Given the description of an element on the screen output the (x, y) to click on. 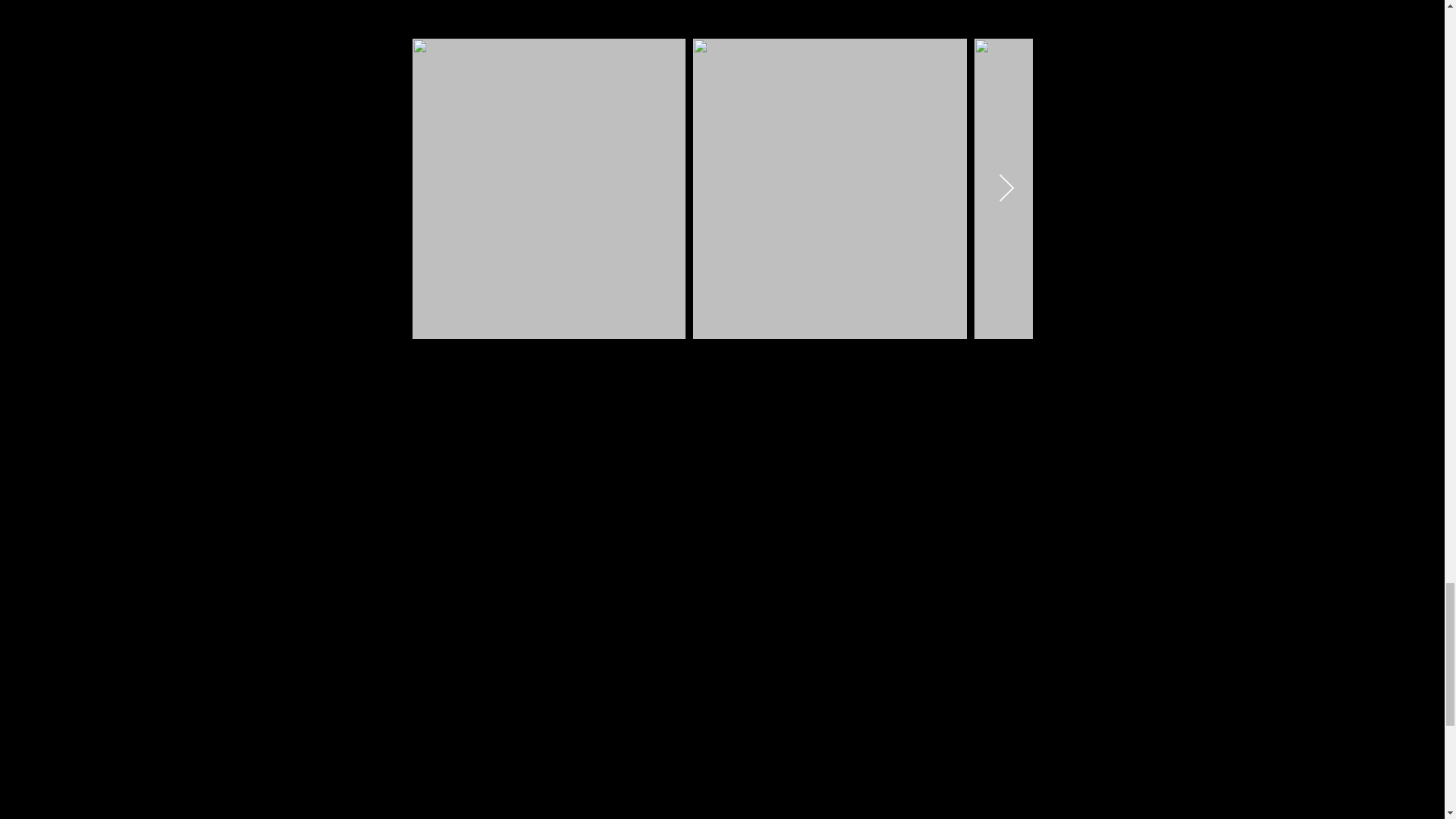
External YouTube (532, 569)
External YouTube (532, 769)
External YouTube (911, 769)
External YouTube (911, 569)
